Given the description of an element on the screen output the (x, y) to click on. 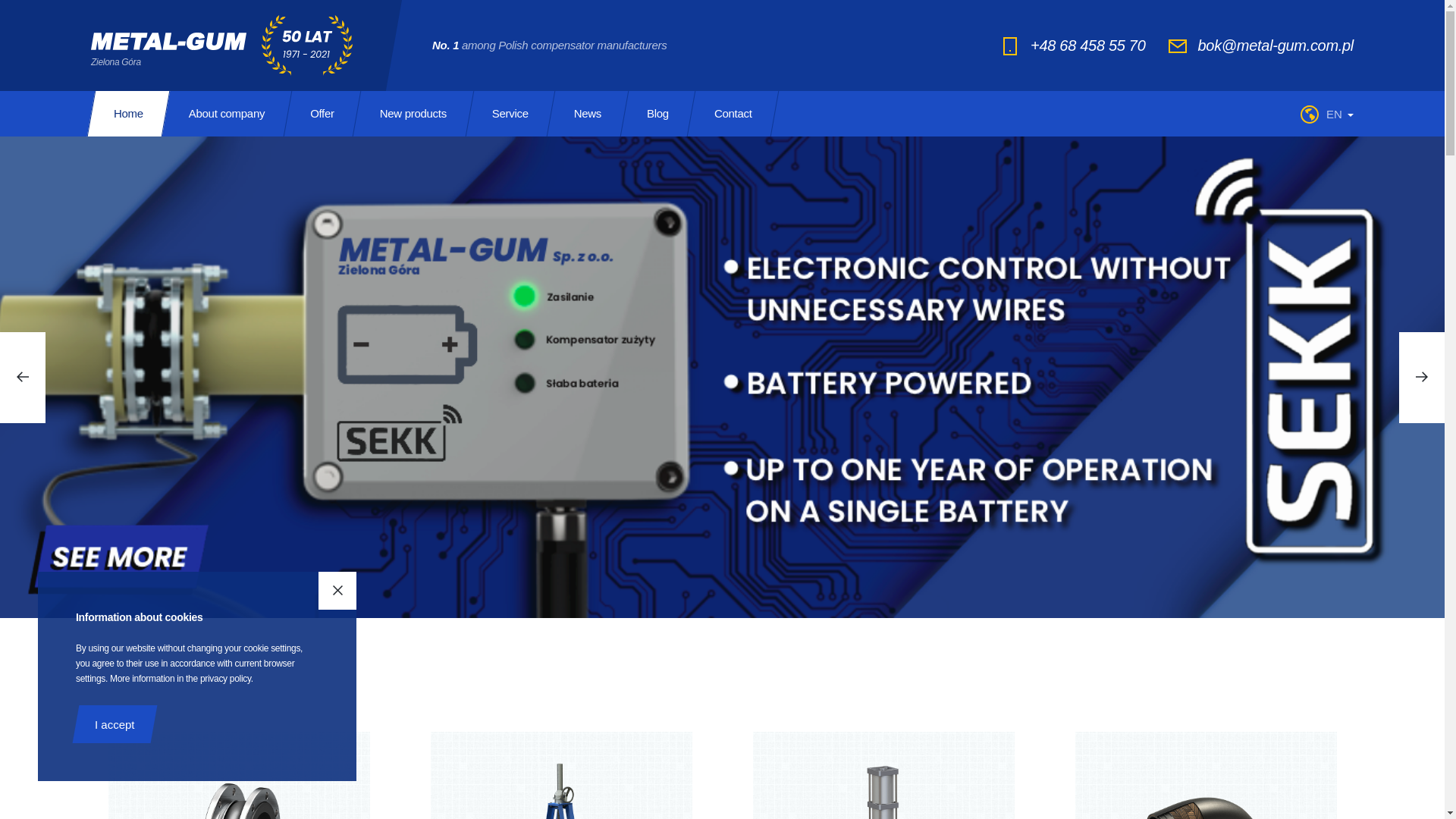
Offer (321, 113)
Valves (560, 764)
Elbows and Arches (1205, 764)
Pinch valves (882, 764)
New products (412, 113)
Contact (732, 113)
Home (127, 113)
About company (225, 113)
Service (509, 113)
Compensators (237, 764)
